Given the description of an element on the screen output the (x, y) to click on. 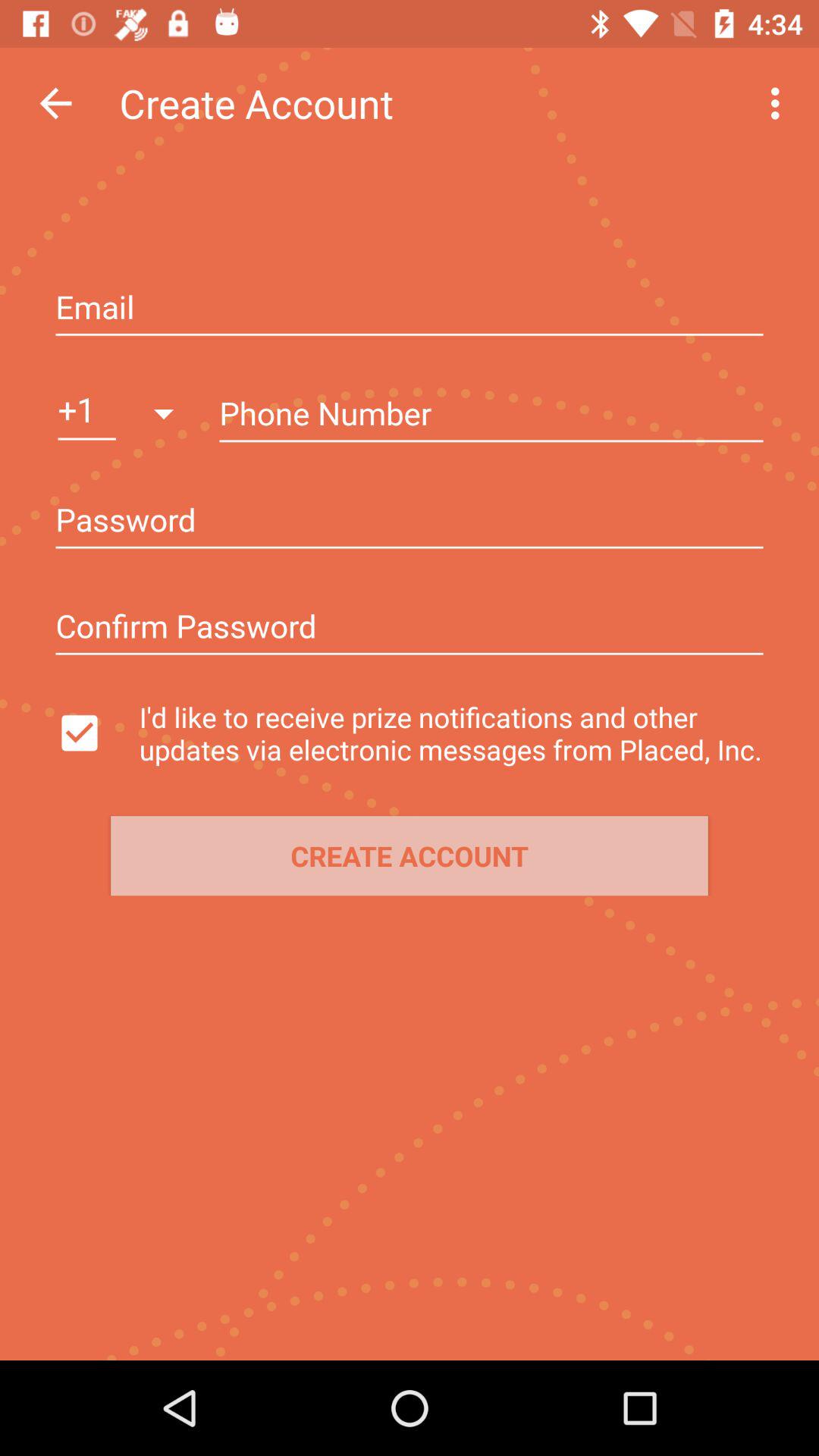
go back (55, 103)
